Given the description of an element on the screen output the (x, y) to click on. 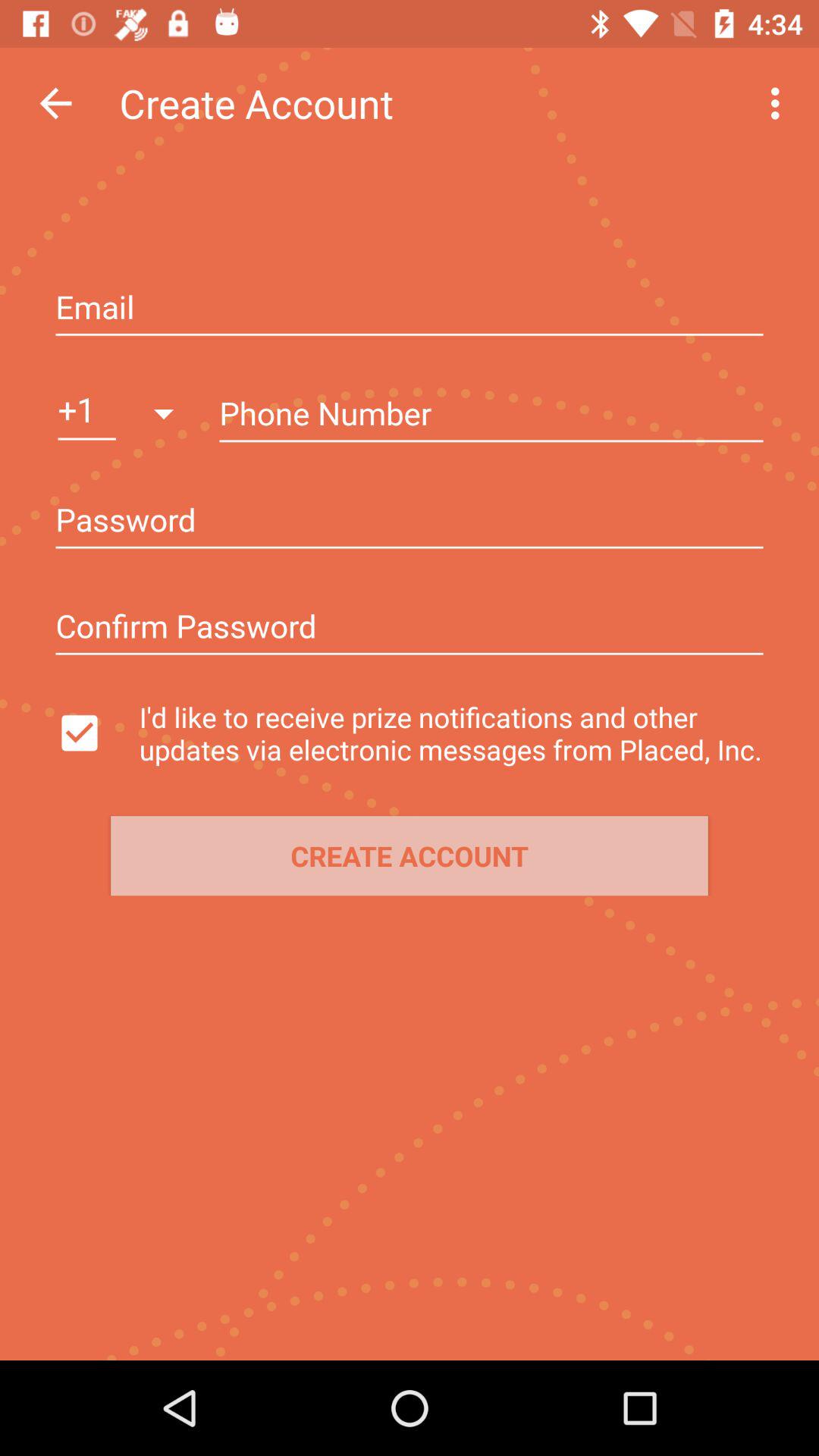
go back (55, 103)
